Given the description of an element on the screen output the (x, y) to click on. 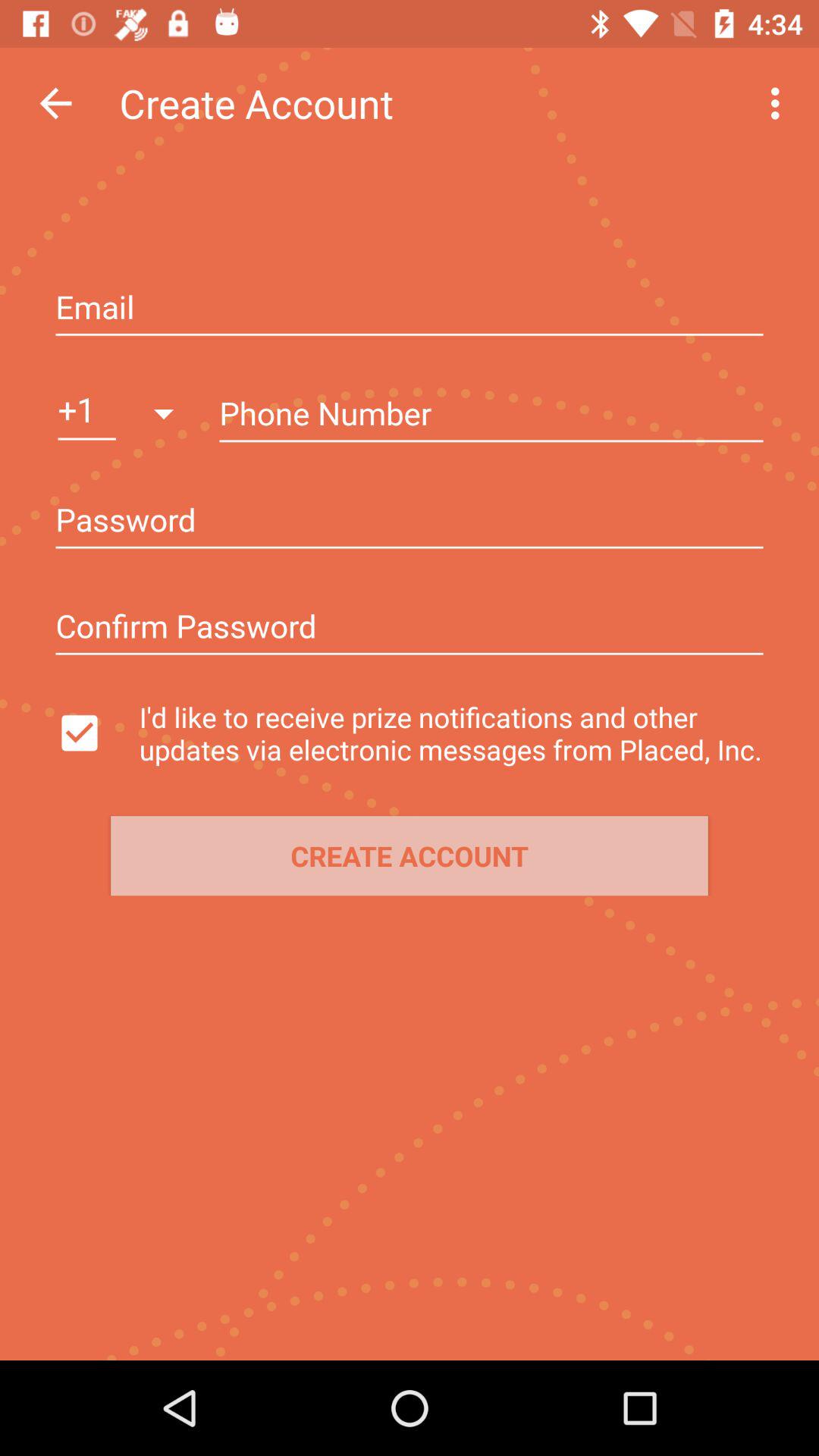
go back (55, 103)
